Given the description of an element on the screen output the (x, y) to click on. 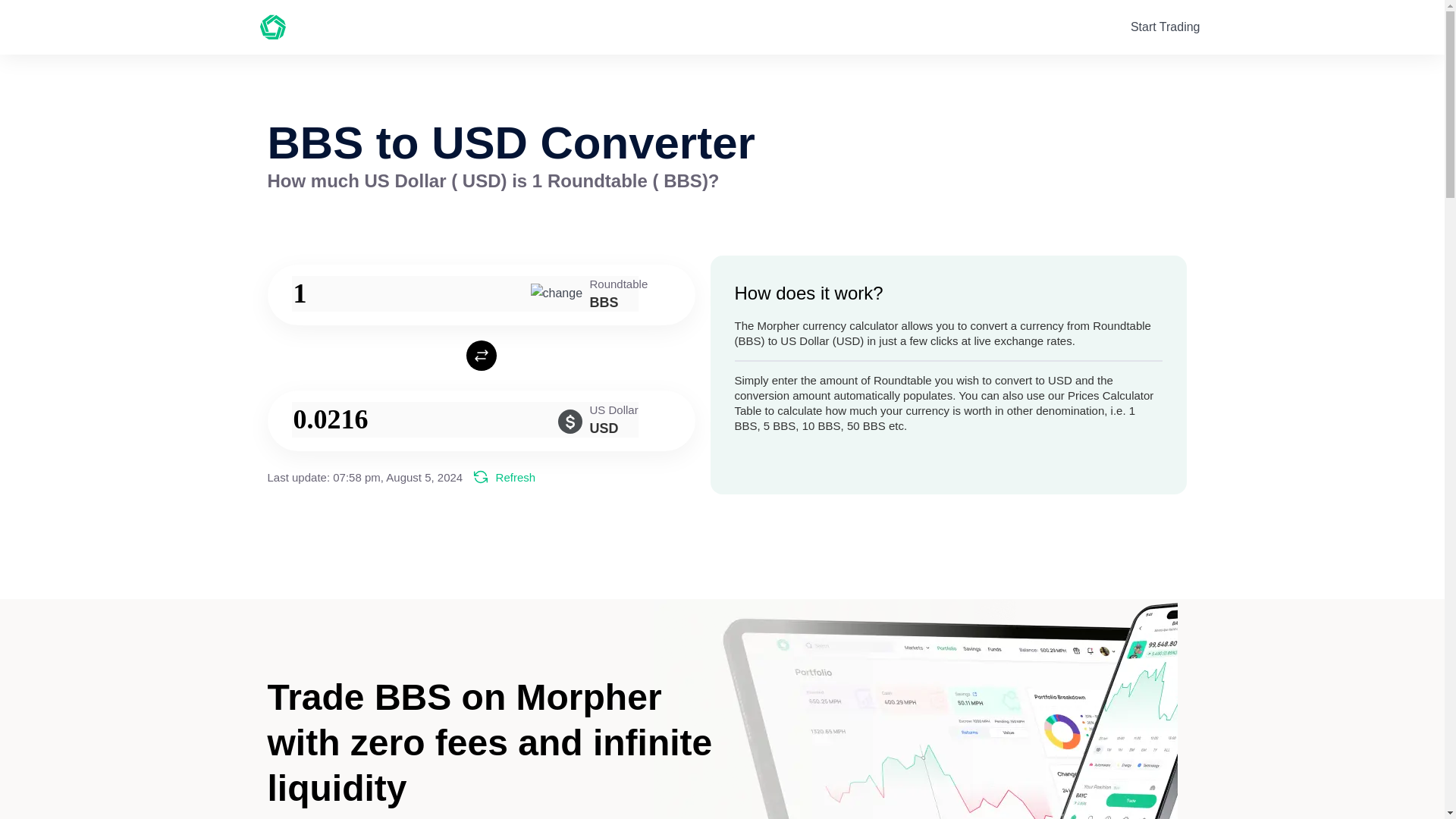
0.0216 (464, 419)
Start Trading (1165, 26)
1 (464, 294)
